Given the description of an element on the screen output the (x, y) to click on. 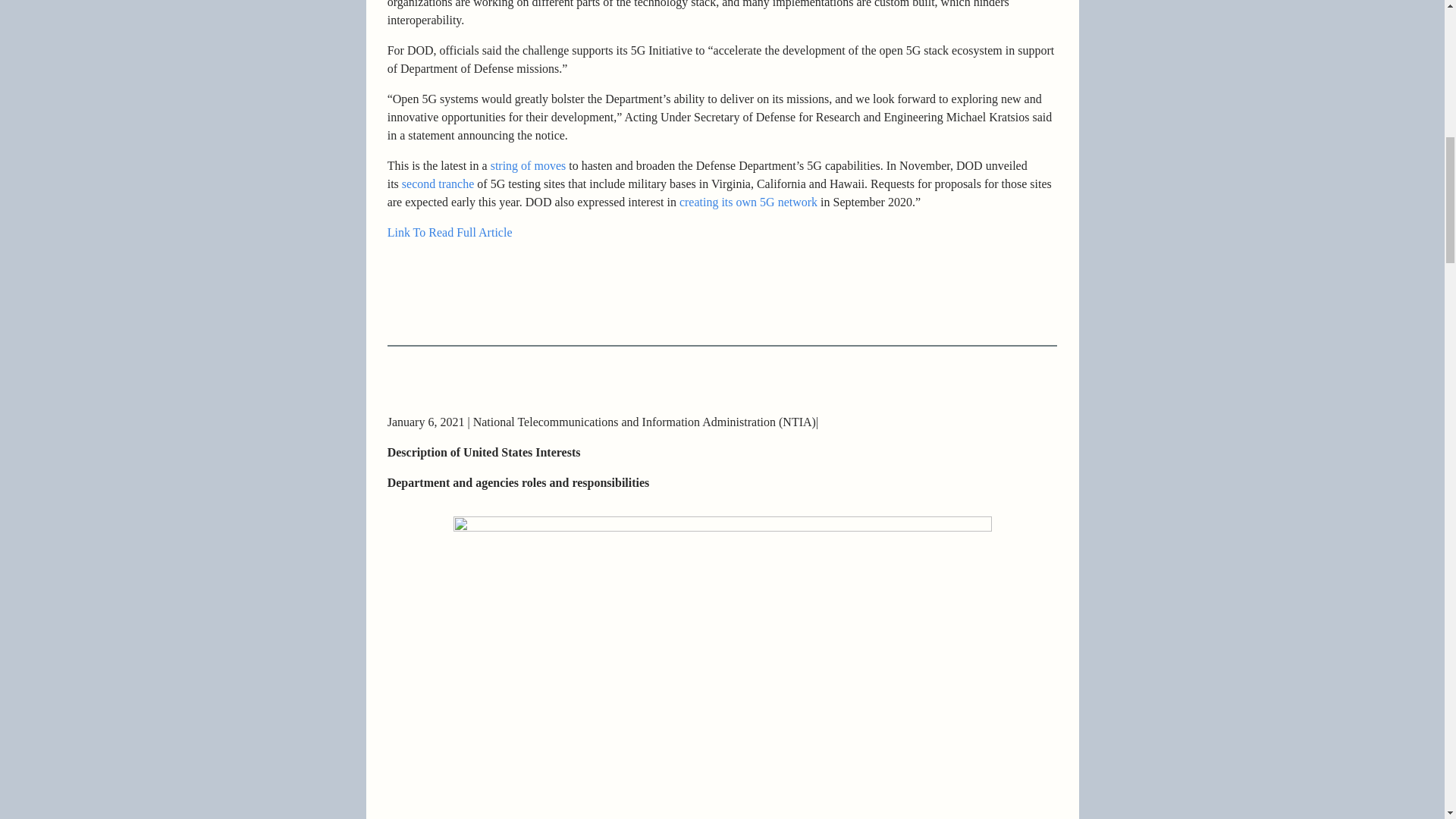
second tranche (437, 183)
Link To Read Full Article (449, 232)
creating its own 5G network (747, 201)
string of moves (528, 164)
